Given the description of an element on the screen output the (x, y) to click on. 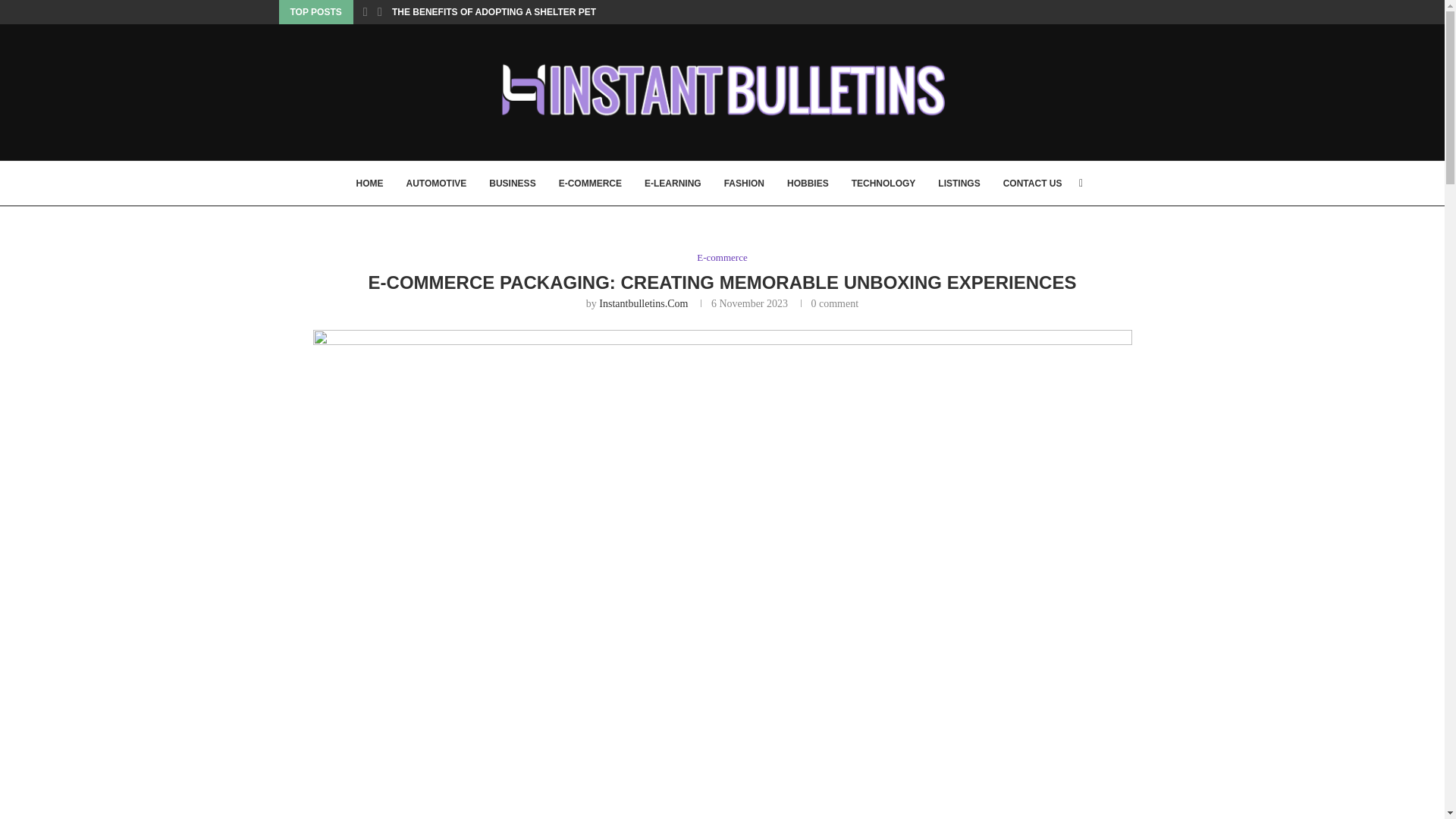
E-LEARNING (673, 183)
E-COMMERCE (590, 183)
THE BENEFITS OF ADOPTING A SHELTER PET (493, 12)
LISTINGS (958, 183)
TECHNOLOGY (883, 183)
E-commerce (721, 257)
FASHION (743, 183)
HOBBIES (807, 183)
AUTOMOTIVE (436, 183)
CONTACT US (1032, 183)
